Given the description of an element on the screen output the (x, y) to click on. 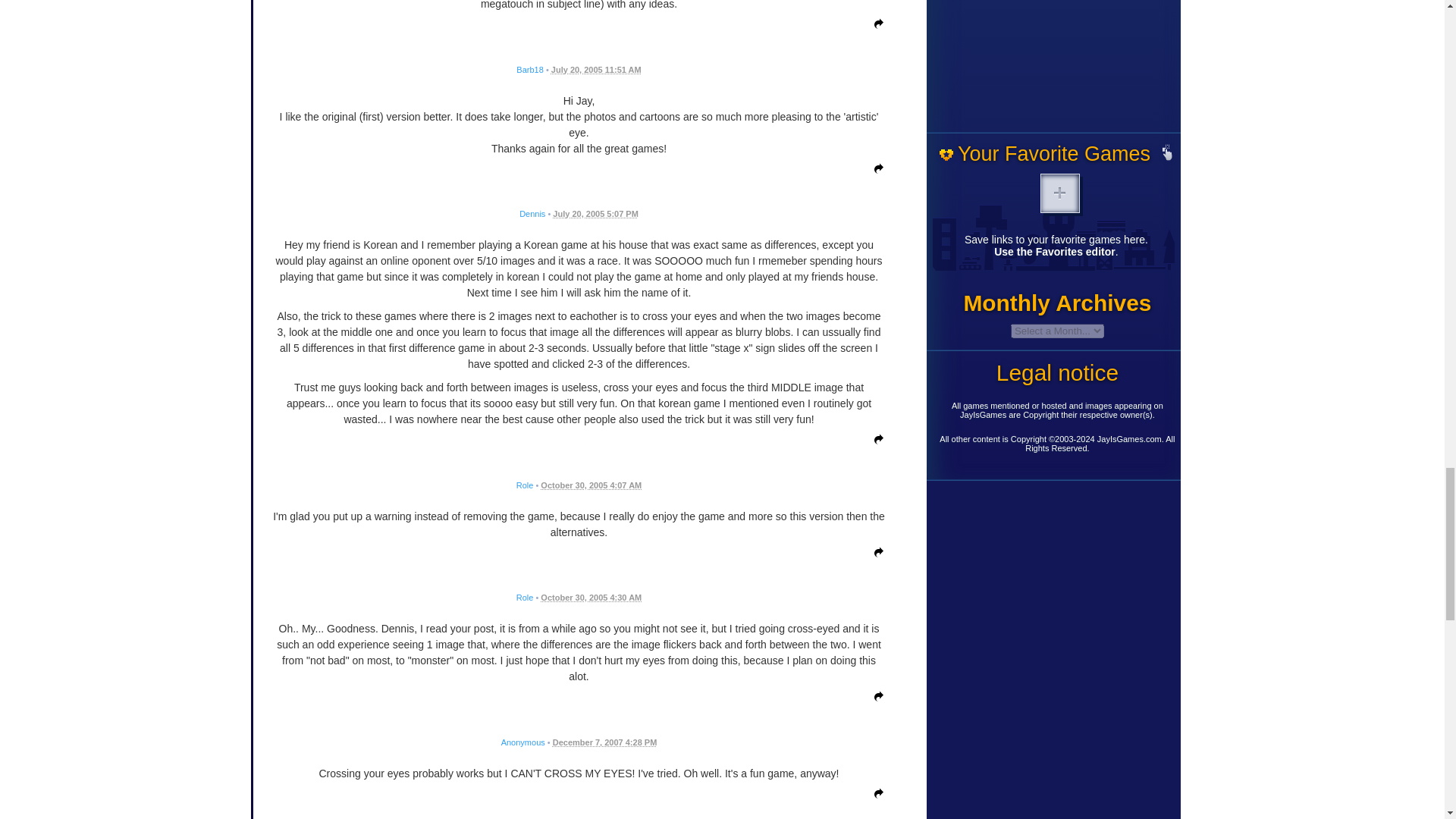
Reply (874, 26)
2005-07-20T11:51:38-05:00 (596, 69)
